Given the description of an element on the screen output the (x, y) to click on. 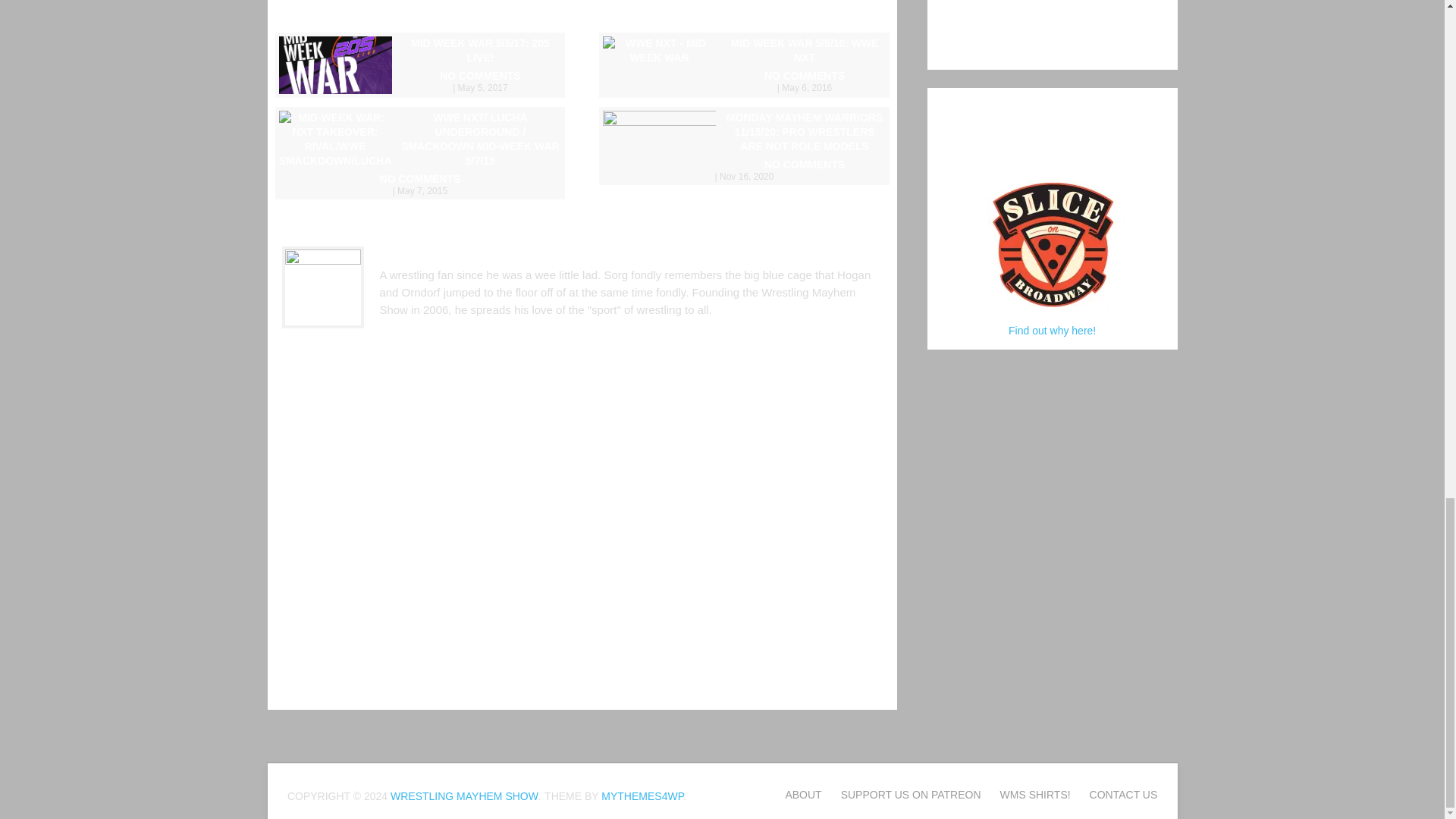
NO COMMENTS (420, 183)
Find out why here! (1052, 330)
NO COMMENTS (420, 80)
NO COMMENTS (743, 80)
 WRESTLING MAYHEM SHOW (462, 796)
NO COMMENTS (743, 169)
